Given the description of an element on the screen output the (x, y) to click on. 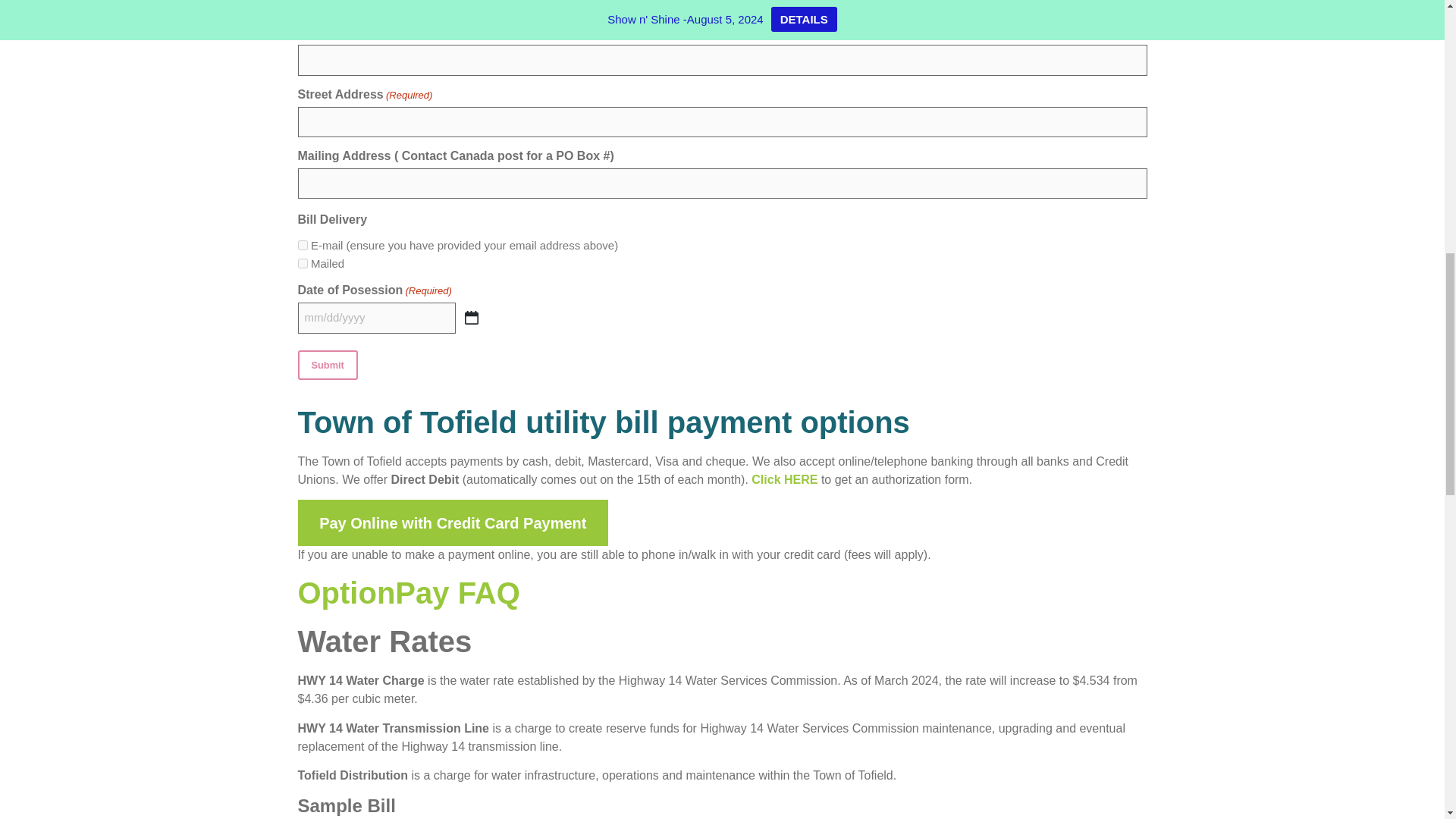
Submit (326, 365)
Mailed (302, 263)
Select date (471, 317)
